Given the description of an element on the screen output the (x, y) to click on. 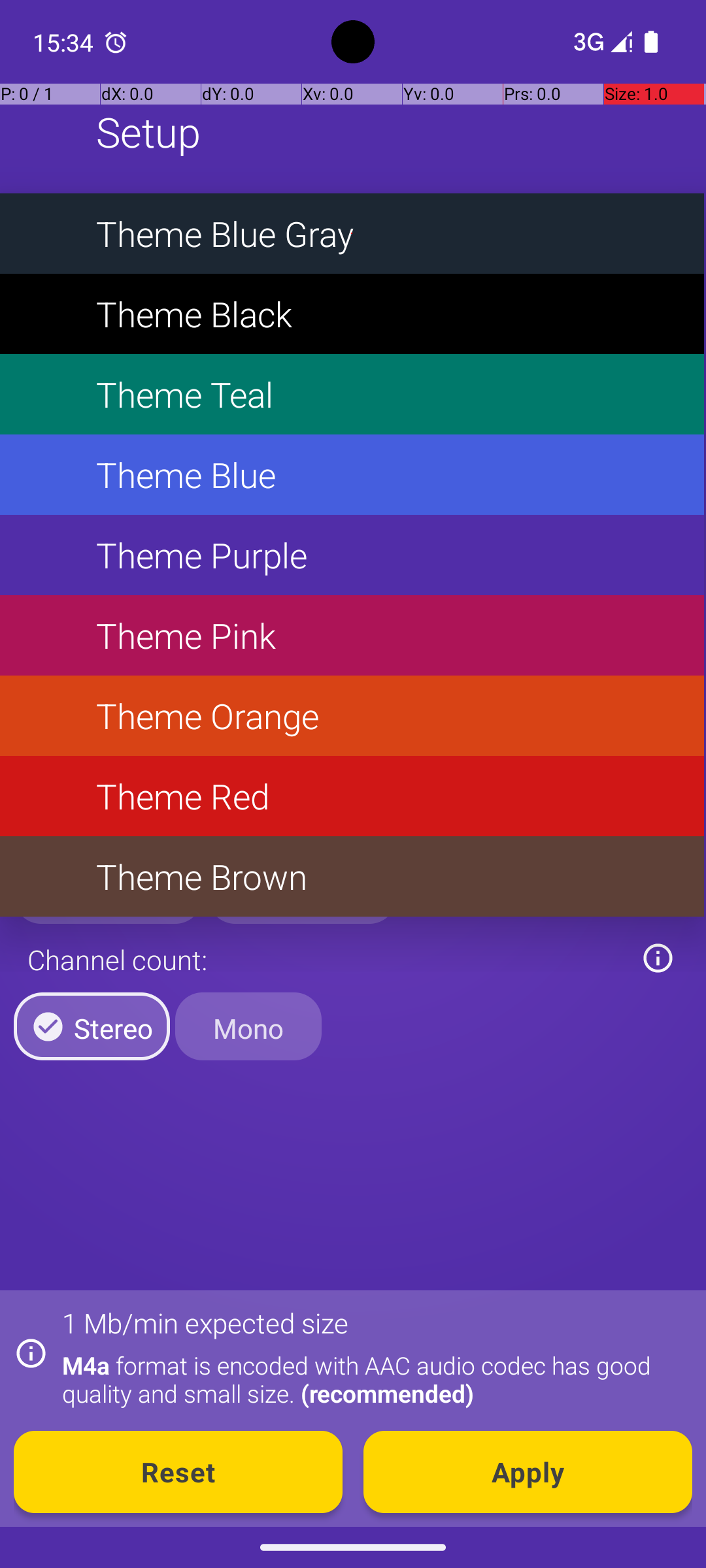
Theme Black Element type: android.widget.TextView (352, 313)
Theme Pink Element type: android.widget.TextView (352, 635)
Theme Orange Element type: android.widget.TextView (352, 715)
Clock notification: Missed alarm Element type: android.widget.ImageView (115, 41)
